Given the description of an element on the screen output the (x, y) to click on. 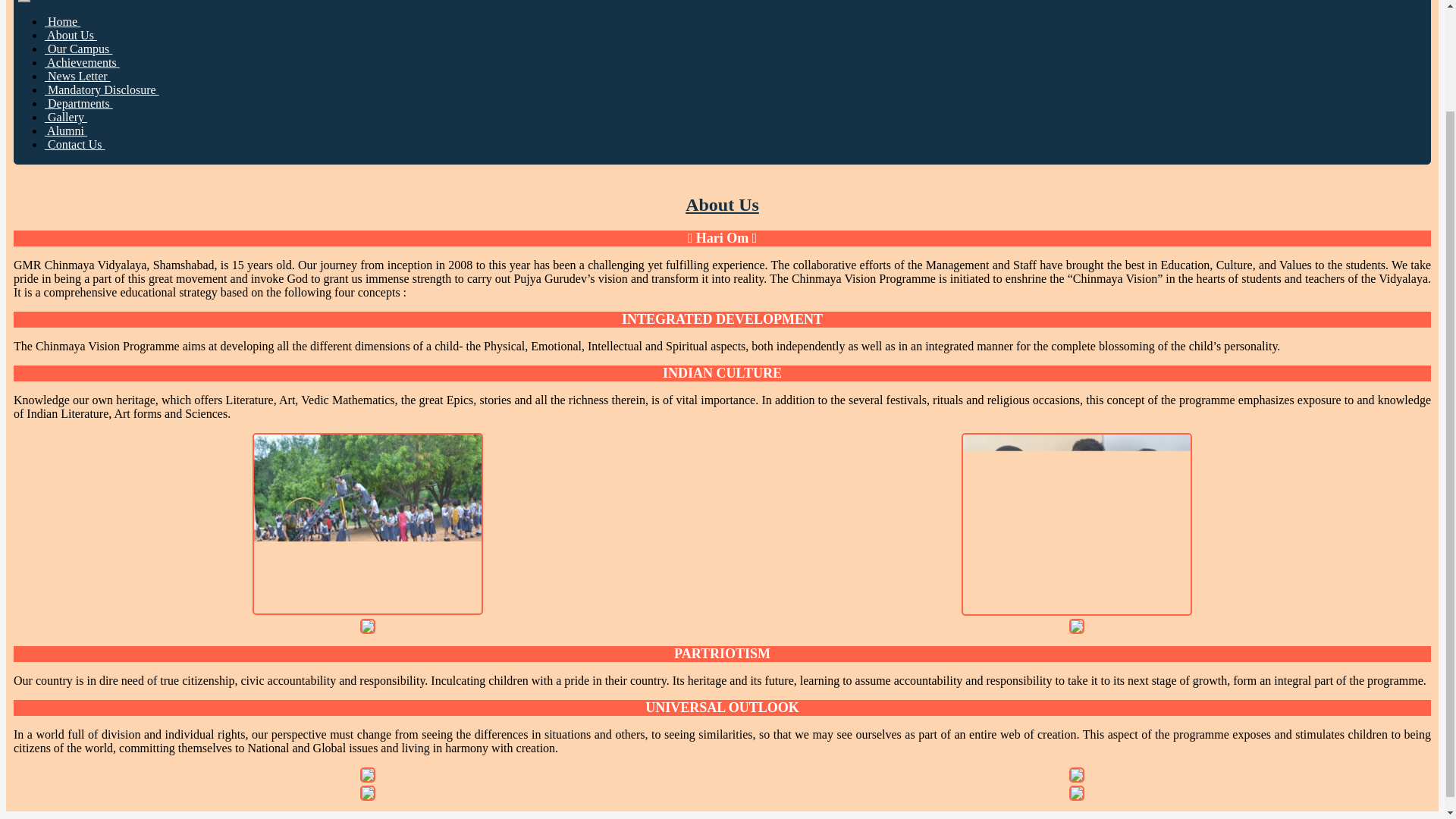
 Departments  (79, 103)
 Contact Us  (74, 144)
 Gallery  (66, 116)
 Our Campus  (78, 48)
 News Letter  (77, 75)
 Mandatory Disclosure  (101, 89)
 About Us  (71, 34)
 Home  (62, 21)
 Achievements  (82, 62)
 Alumni  (66, 130)
